Given the description of an element on the screen output the (x, y) to click on. 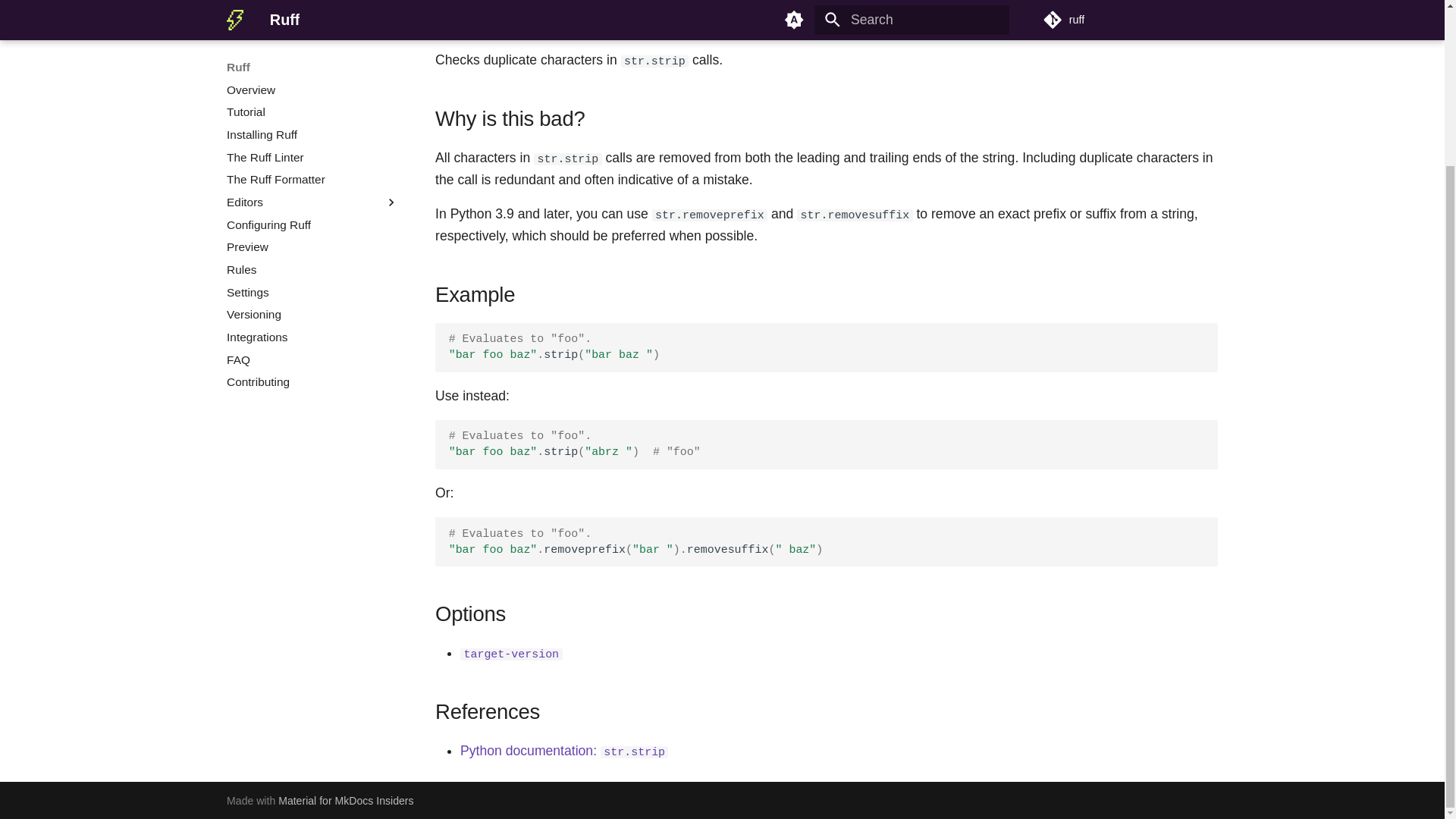
Material for MkDocs Insiders (345, 800)
Contributing (312, 209)
Versioning (312, 141)
Integrations (312, 164)
target-version (511, 652)
The Ruff Formatter (312, 7)
Preview (312, 73)
Python documentation: str.strip (564, 750)
FAQ (312, 186)
Configuring Ruff (312, 52)
